Given the description of an element on the screen output the (x, y) to click on. 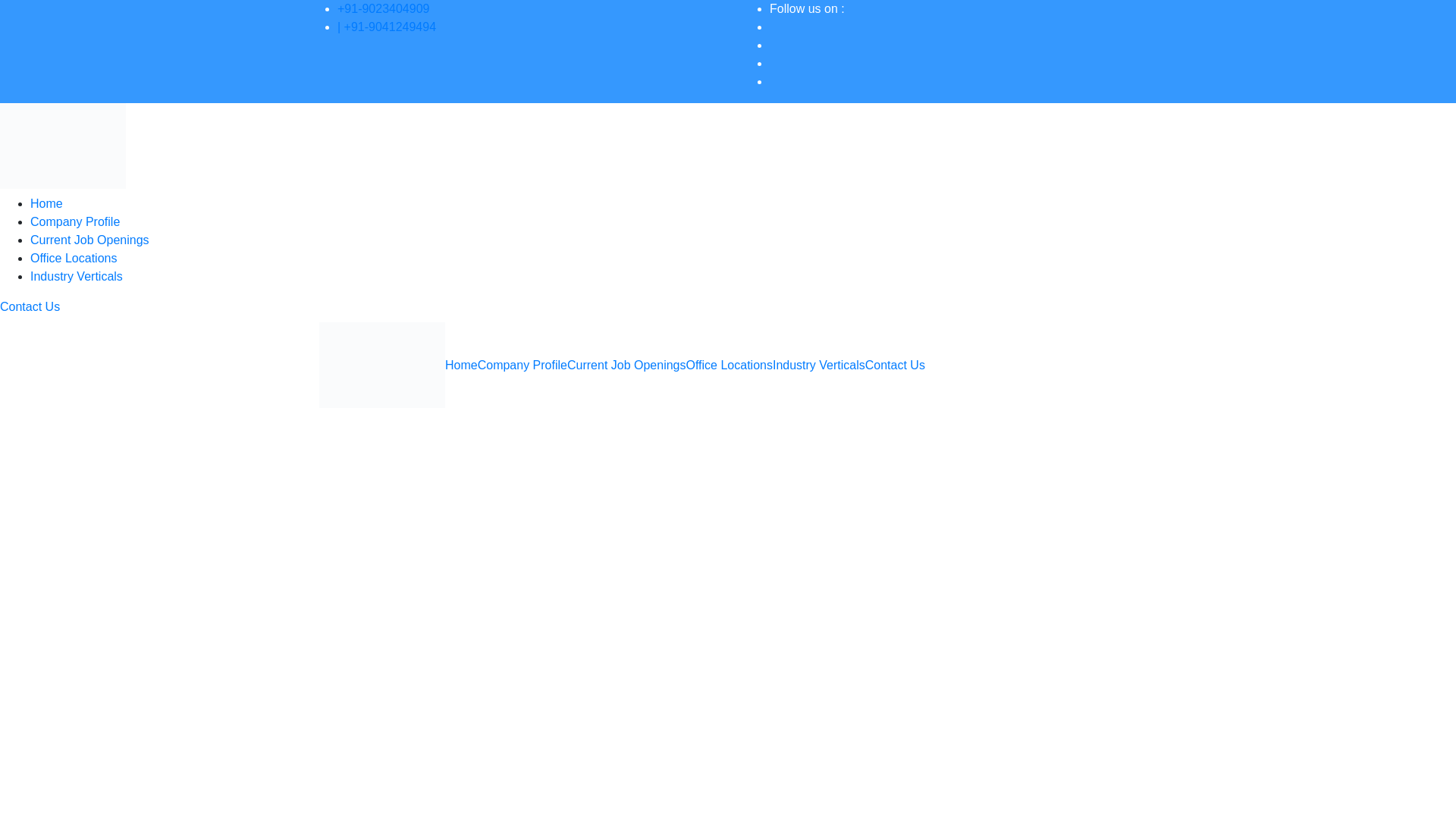
Office Locations (728, 364)
Industry Verticals (818, 364)
Contact Us (29, 306)
Industry Verticals (76, 276)
Home (461, 364)
Home (46, 203)
Contact Us (894, 364)
Current Job Openings (89, 239)
Current Job Openings (626, 364)
Company Profile (522, 364)
Company Profile (74, 221)
Office Locations (73, 257)
